Given the description of an element on the screen output the (x, y) to click on. 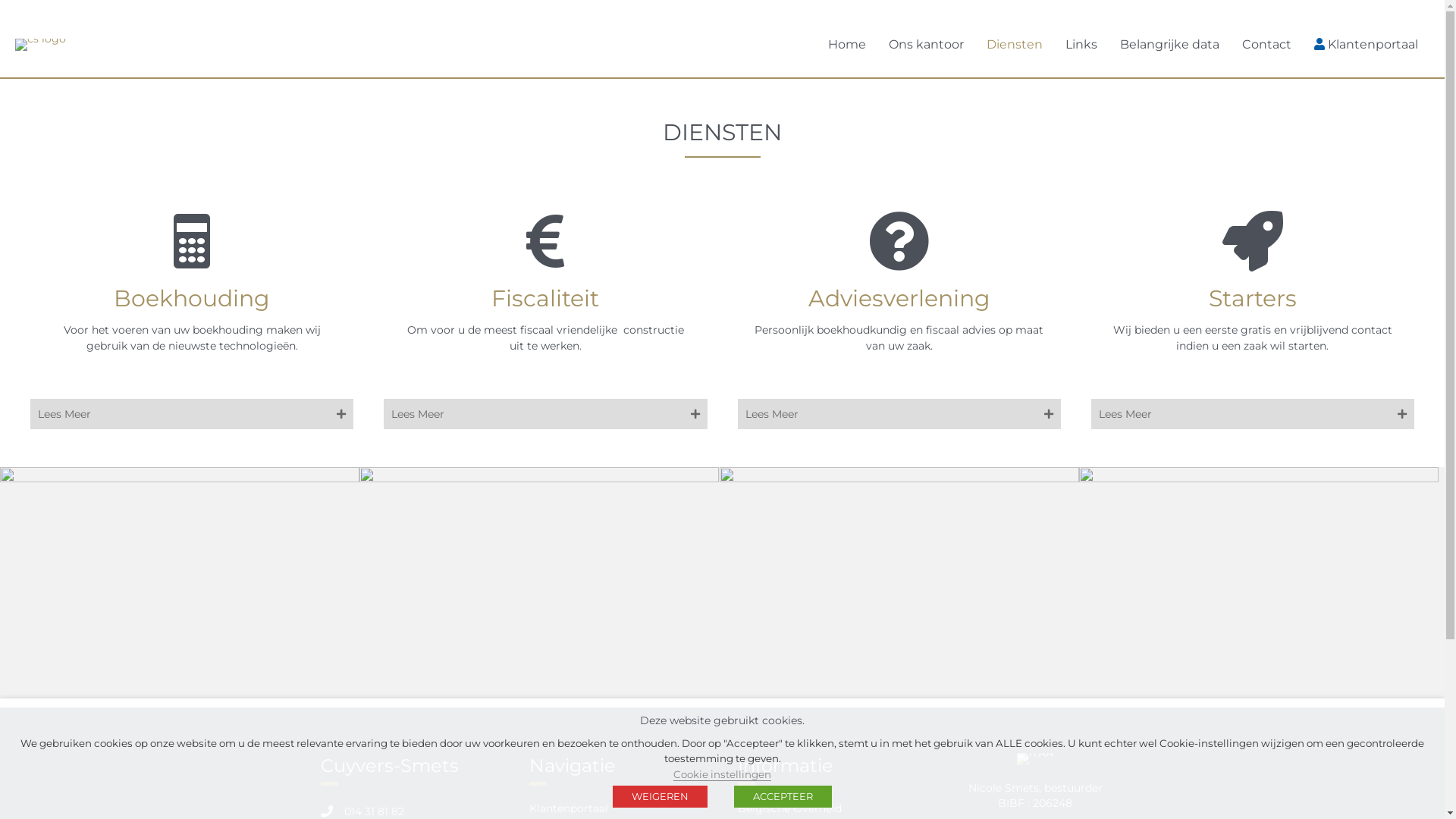
Home Element type: text (846, 44)
ITAA Element type: hover (1034, 759)
Belangrijke data Element type: text (1169, 44)
Diensten Element type: text (1014, 44)
Project _C-S-4593 Element type: hover (179, 586)
Project _C-S-4525 Element type: hover (1258, 586)
WEIGEREN Element type: text (659, 796)
ACCEPTEER Element type: text (782, 796)
Belgische Overheid Element type: text (788, 808)
Cookie instellingen Element type: text (722, 774)
cs logo Element type: hover (40, 43)
Ons kantoor Element type: text (926, 44)
Klantenportaal Element type: text (1365, 44)
Project _C-S-4520 Element type: hover (538, 586)
Links Element type: text (1080, 44)
Project _C-S-4536 Element type: hover (899, 586)
Contact Element type: text (1266, 44)
Klantenportaal Element type: text (568, 808)
